Given the description of an element on the screen output the (x, y) to click on. 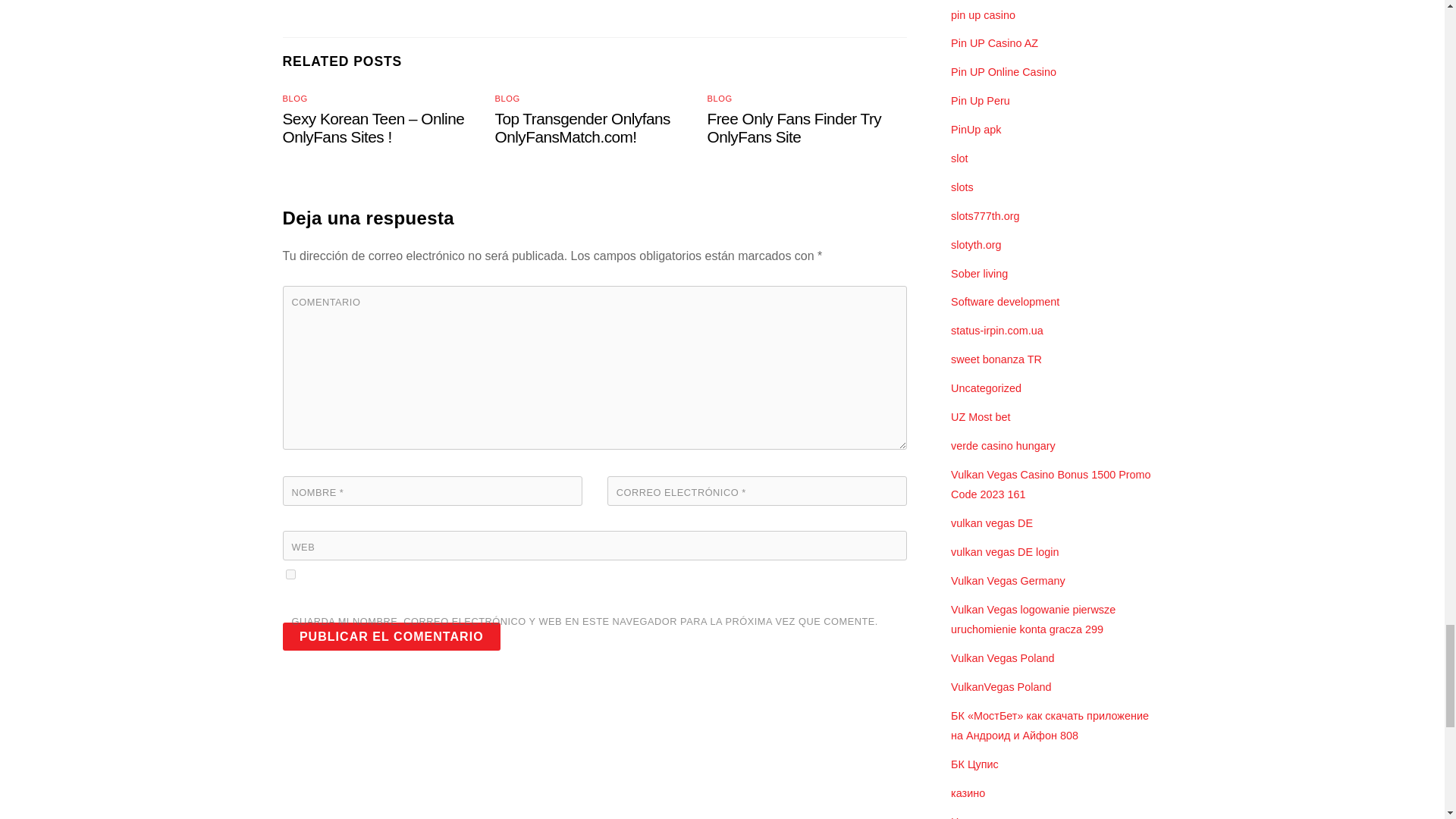
BLOG (294, 98)
Publicar el comentario (391, 636)
Top Transgender Onlyfans OnlyFansMatch.com! (582, 127)
Free Only Fans Finder Try OnlyFans Site (794, 127)
Top Transgender Onlyfans OnlyFansMatch.com! (582, 127)
yes (290, 574)
Publicar el comentario (391, 636)
Free Only Fans Finder Try OnlyFans Site (794, 127)
BLOG (719, 98)
BLOG (507, 98)
